Given the description of an element on the screen output the (x, y) to click on. 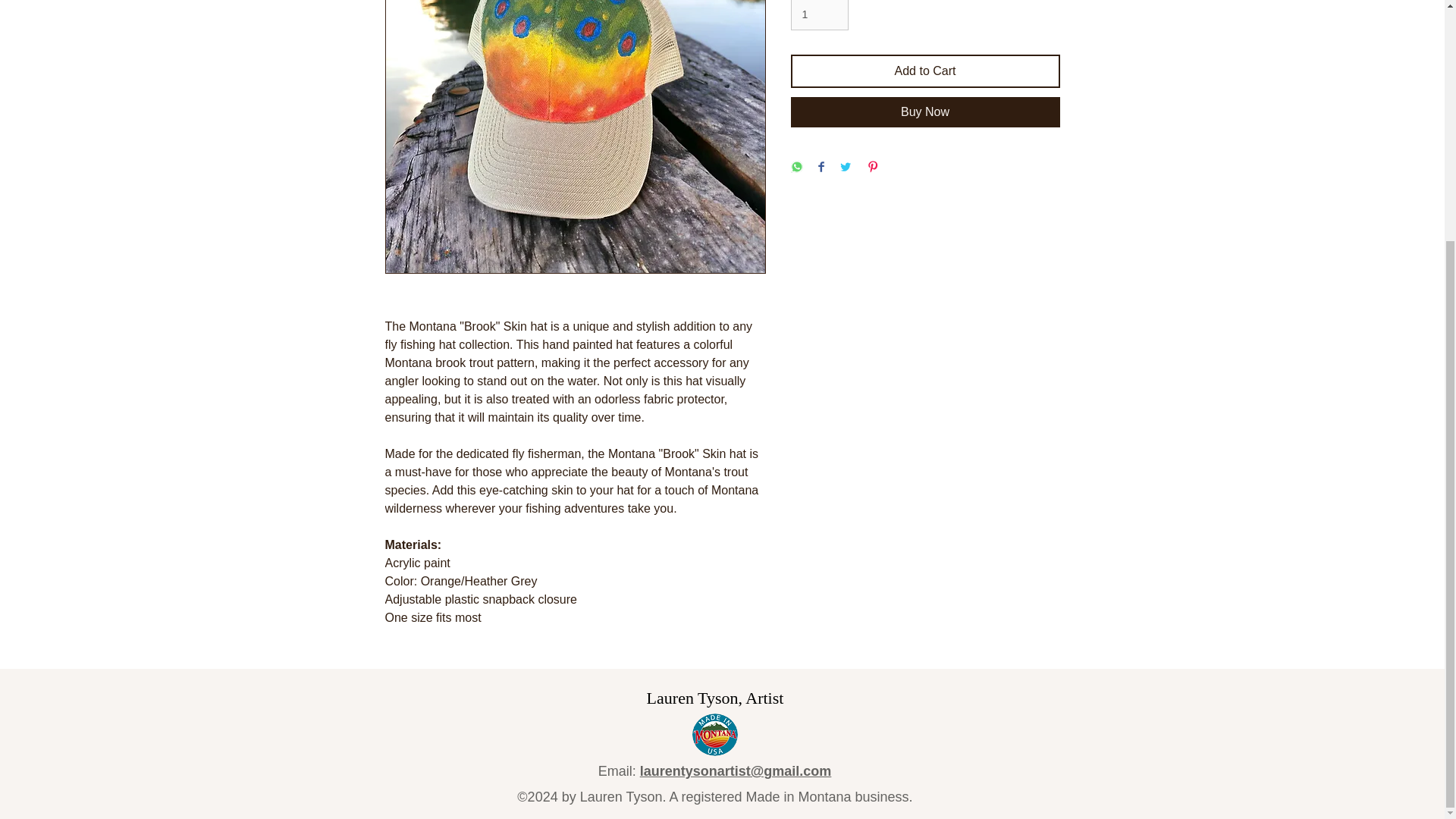
Add to Cart (924, 70)
Lauren Tyson, Artist (715, 697)
1 (818, 15)
Buy Now (924, 112)
